Given the description of an element on the screen output the (x, y) to click on. 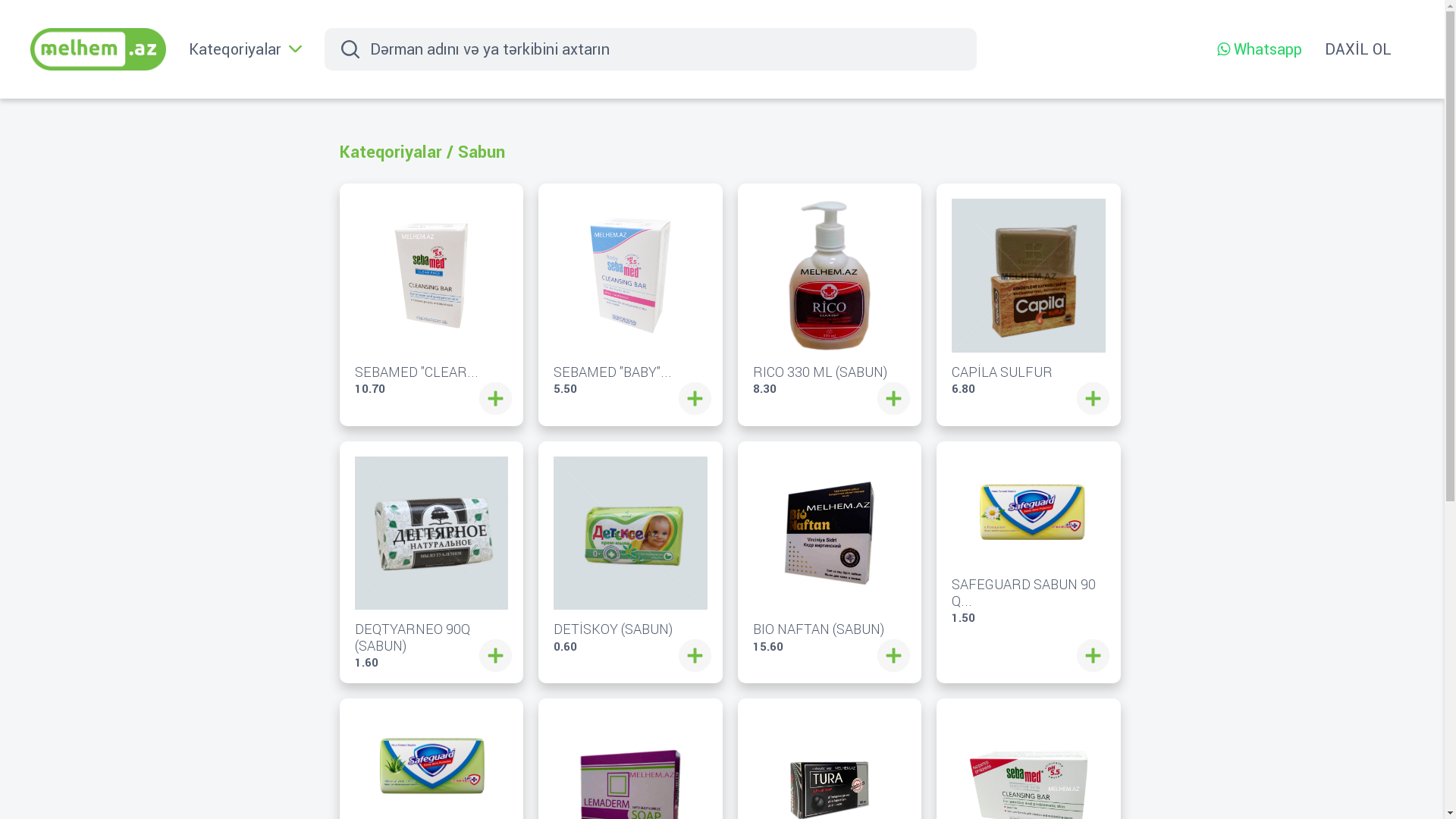
SAFEGUARD SABUN 90 Q...
1.50 Element type: text (1028, 540)
Kateqoriyalar Element type: text (390, 152)
Whatsapp Element type: text (1259, 49)
SEBAMED "CLEAR...
10.70 Element type: text (431, 296)
SEBAMED "BABY"...
5.50 Element type: text (630, 296)
RICO 330 ML (SABUN)
8.30 Element type: text (829, 296)
Sabun Element type: text (481, 152)
BIO NAFTAN (SABUN)
15.60 Element type: text (829, 554)
DEQTYARNEO 90Q (SABUN)
1.60 Element type: text (431, 562)
Kateqoriyalar Element type: text (244, 49)
